Given the description of an element on the screen output the (x, y) to click on. 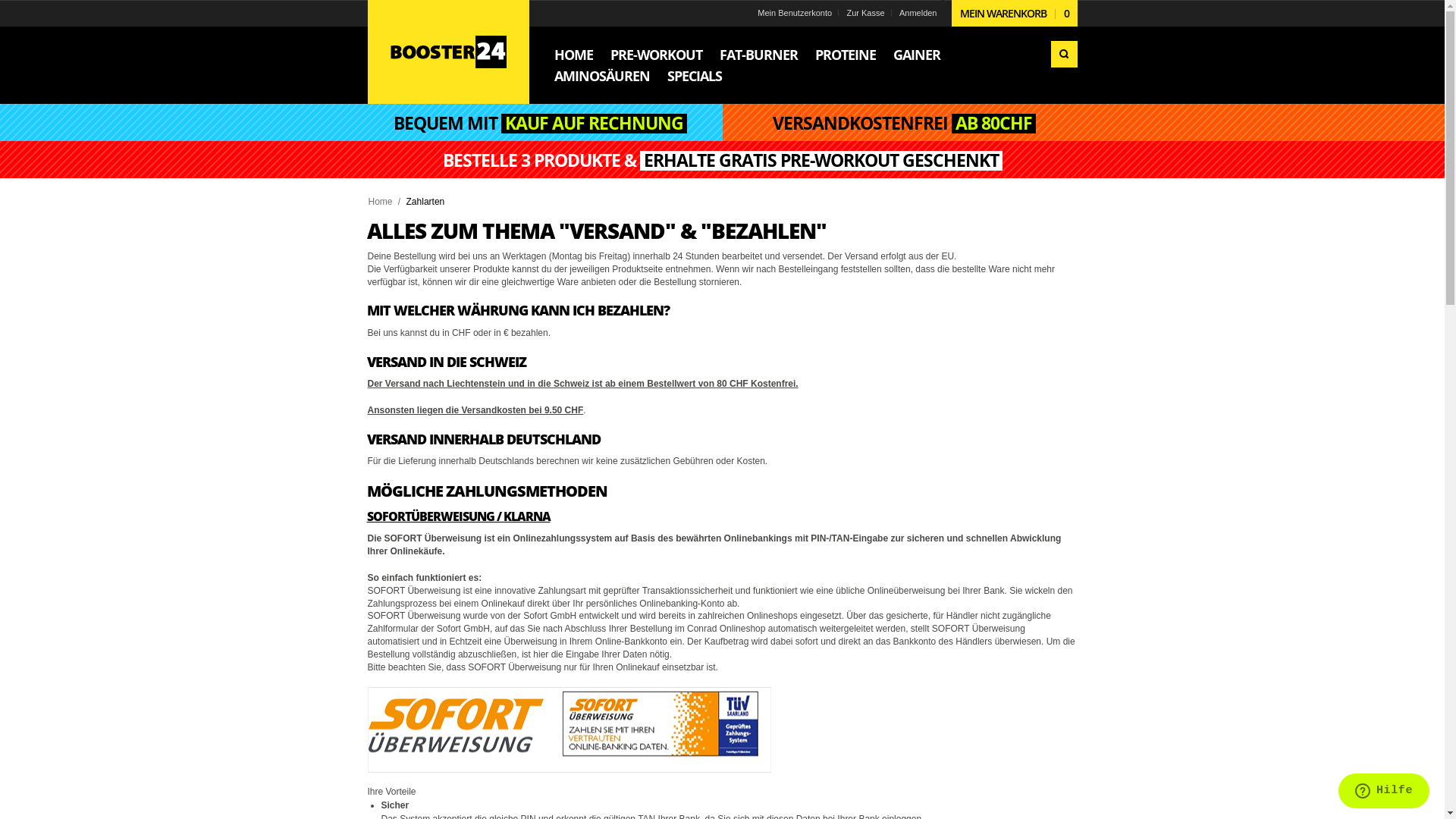
BESTELLE 3 PRODUKTE & ERHALTE GRATIS PRE-WORKOUT GESCHENKT Element type: text (721, 160)
Anmelden Element type: text (917, 12)
Mein Benutzerkonto Element type: text (794, 12)
HOME Element type: text (573, 54)
Home Element type: text (380, 201)
SPECIALS Element type: text (693, 76)
BEQUEM MIT KAUF AUF RECHNUNG Element type: text (539, 123)
GAINER Element type: text (915, 54)
Booster24 Element type: hover (447, 51)
FAT-BURNER Element type: text (758, 54)
MEIN WARENKORB0 Element type: text (1013, 13)
PROTEINE Element type: text (845, 54)
SUCHE Element type: text (1064, 53)
PRE-WORKOUT Element type: text (656, 54)
Zur Kasse Element type: text (864, 12)
VERSANDKOSTENFREI AB 80CHF Element type: text (903, 123)
